Given the description of an element on the screen output the (x, y) to click on. 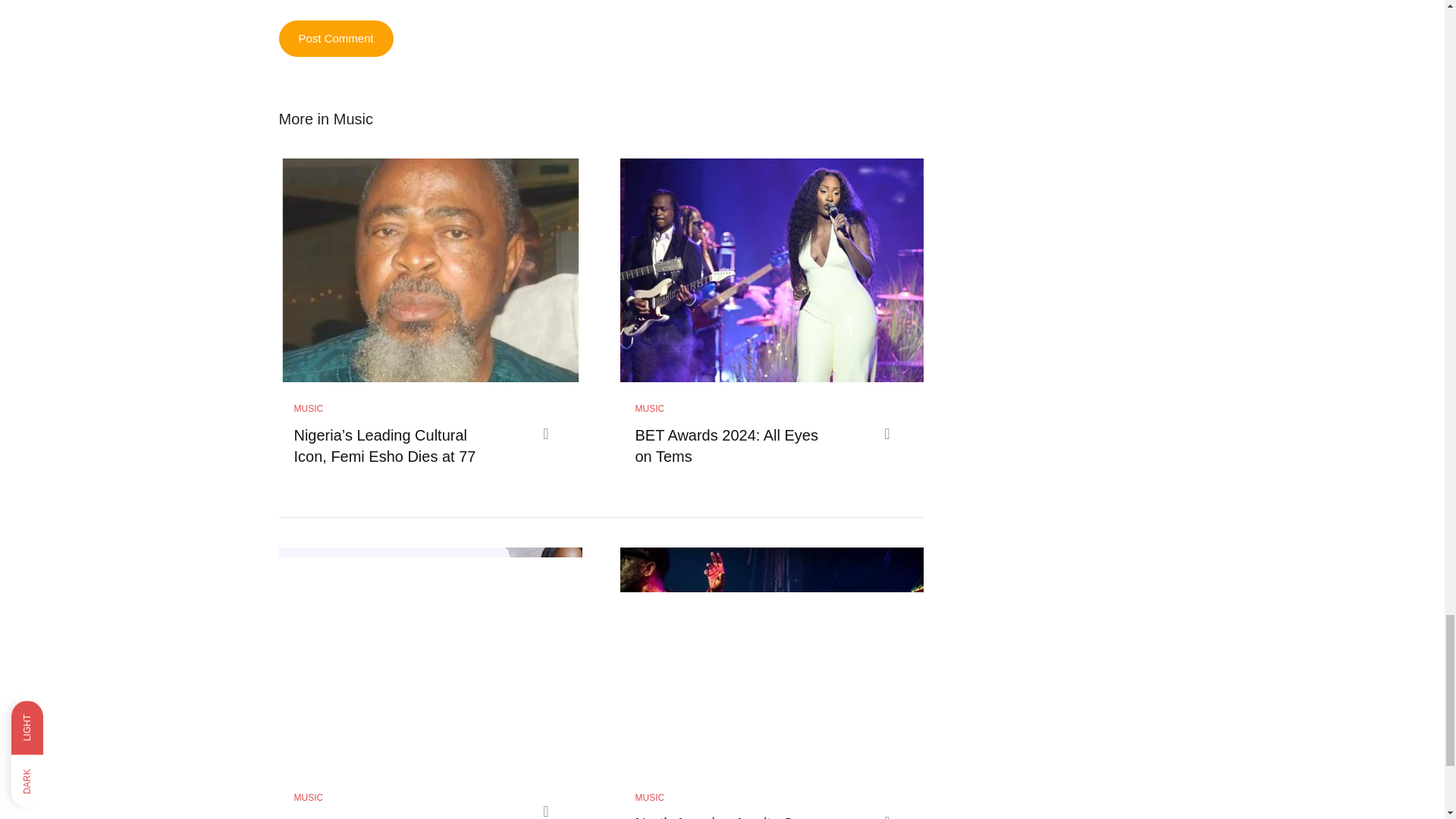
Post Comment (336, 38)
